Given the description of an element on the screen output the (x, y) to click on. 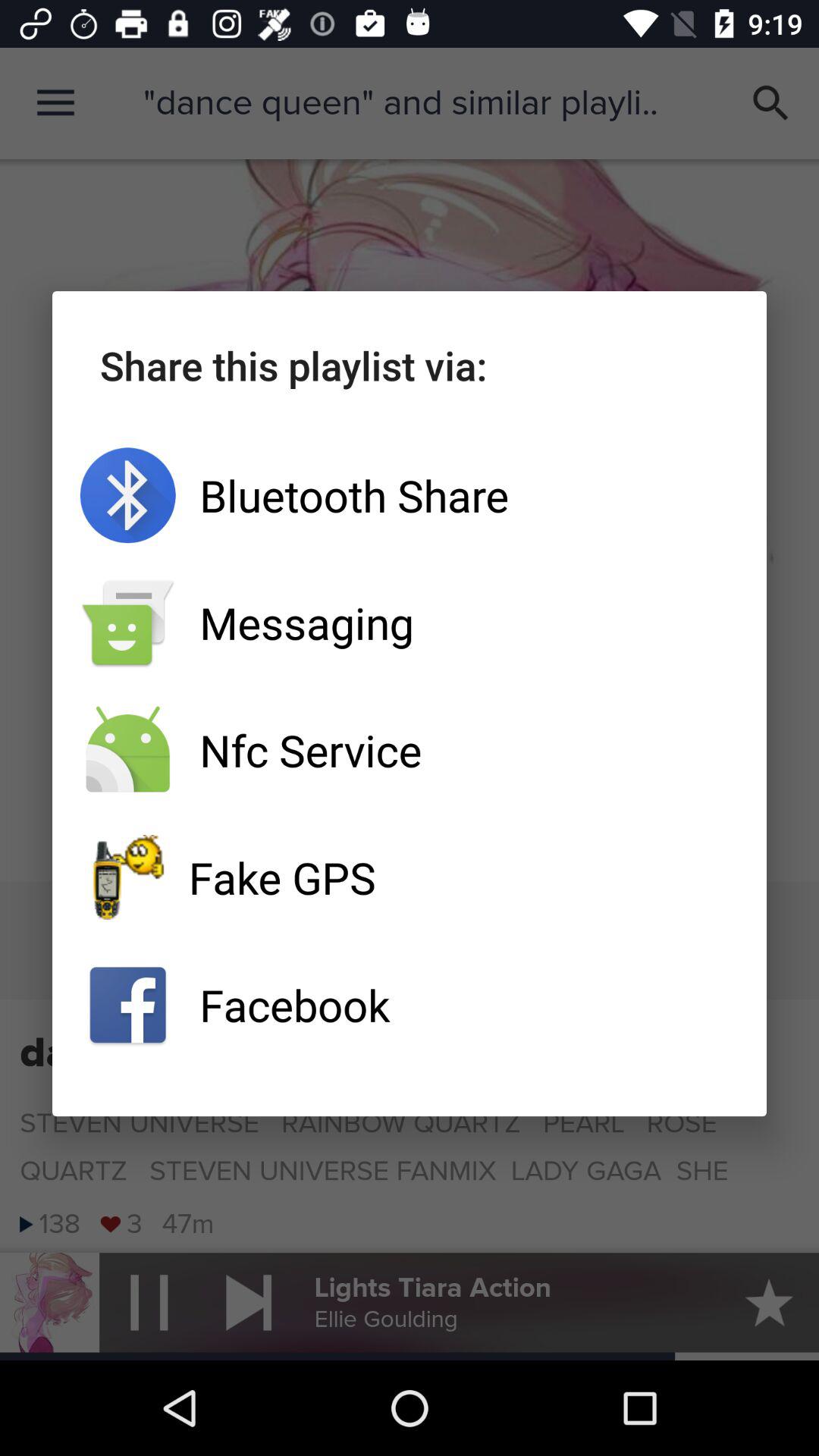
choose facebook at the bottom (409, 1004)
